Given the description of an element on the screen output the (x, y) to click on. 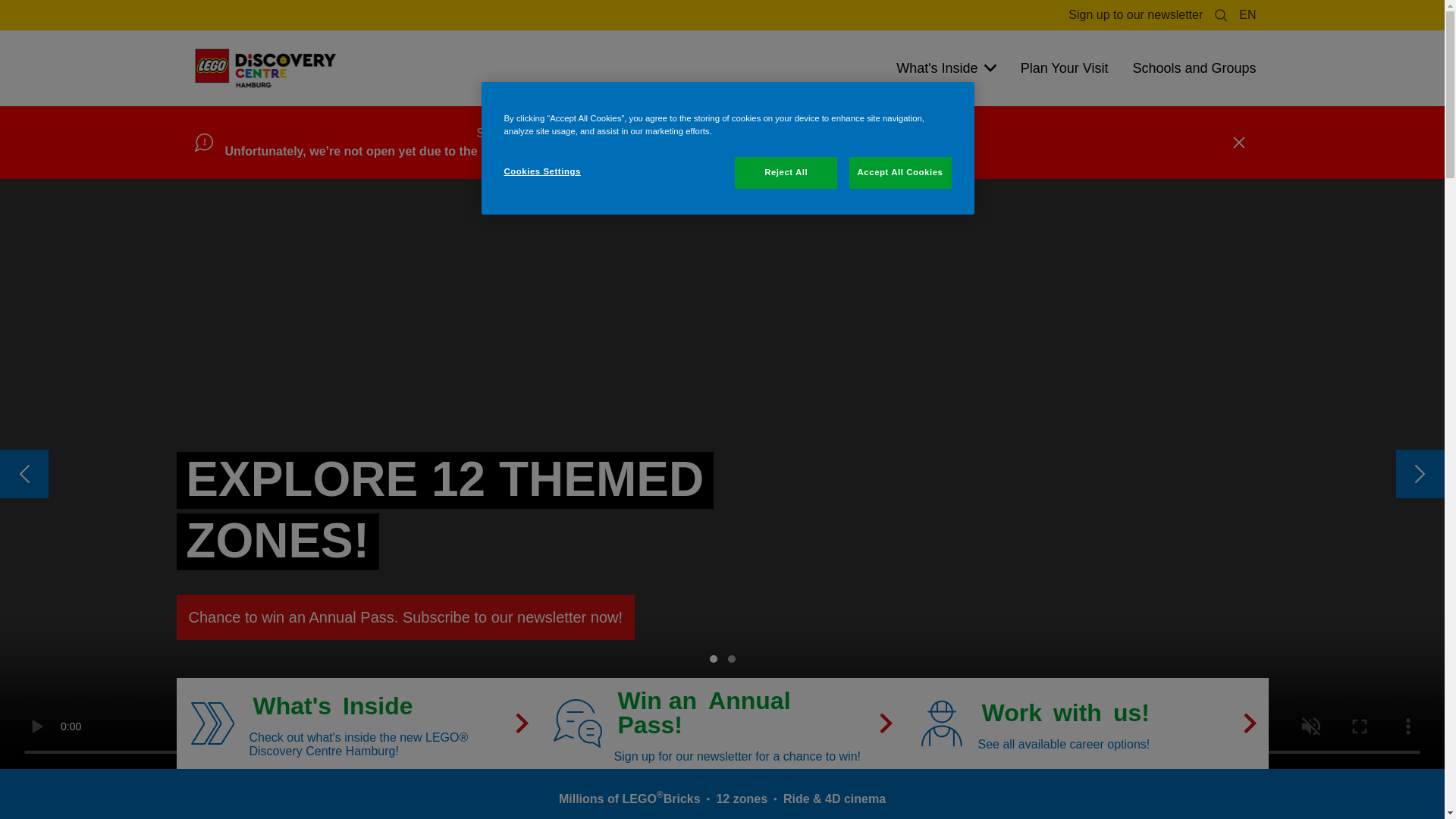
Plan Your Visit (1065, 68)
What's Inside (945, 68)
Close (1238, 142)
Sign up to our newsletter (1135, 14)
Schools and Groups (1193, 68)
What's Inside (358, 723)
Select Language (1246, 14)
Work with us! (1086, 723)
